Given the description of an element on the screen output the (x, y) to click on. 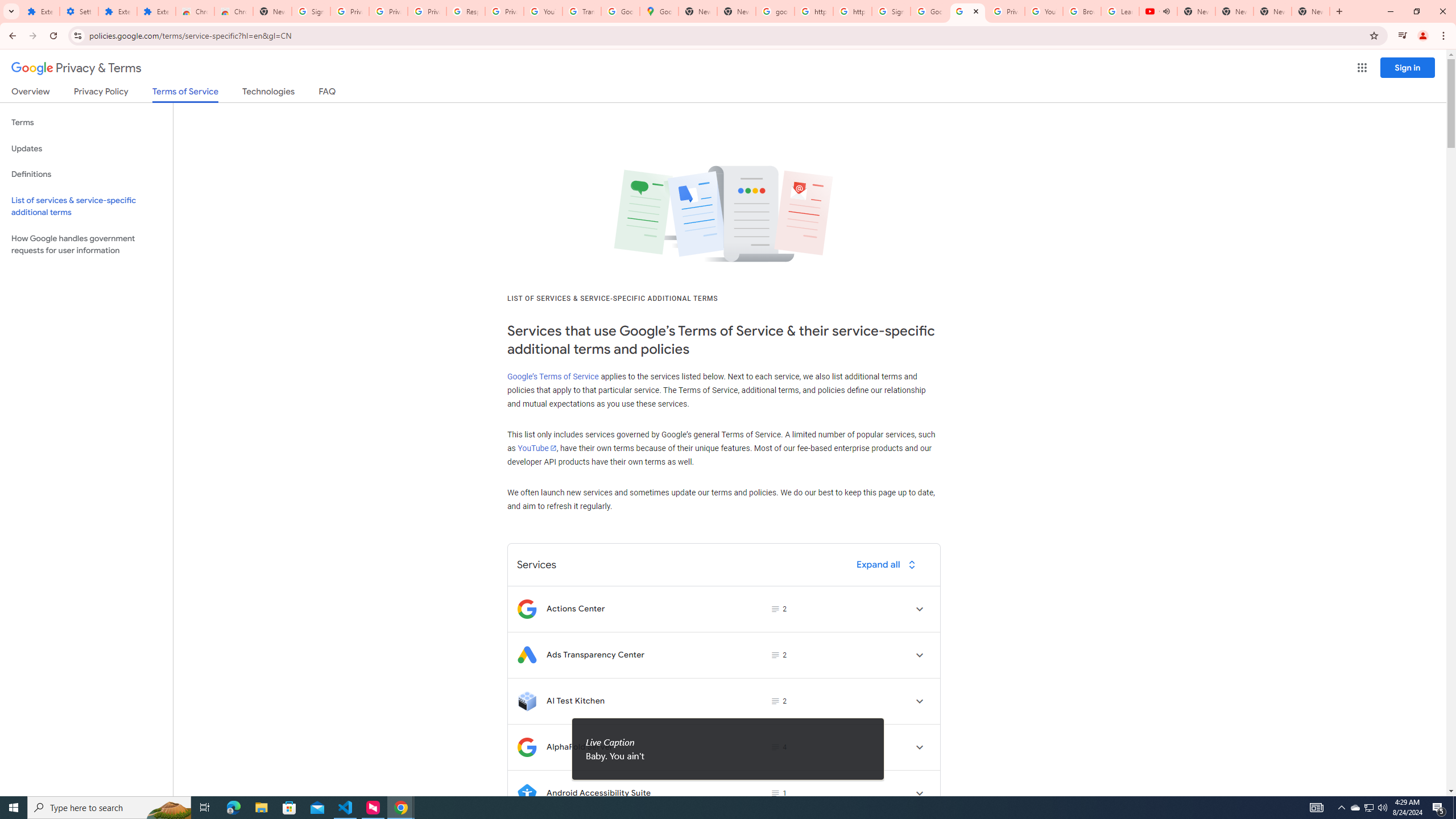
How Google handles government requests for user information (86, 244)
Logo for Ads Transparency Center (526, 654)
YouTube (1043, 11)
